Given the description of an element on the screen output the (x, y) to click on. 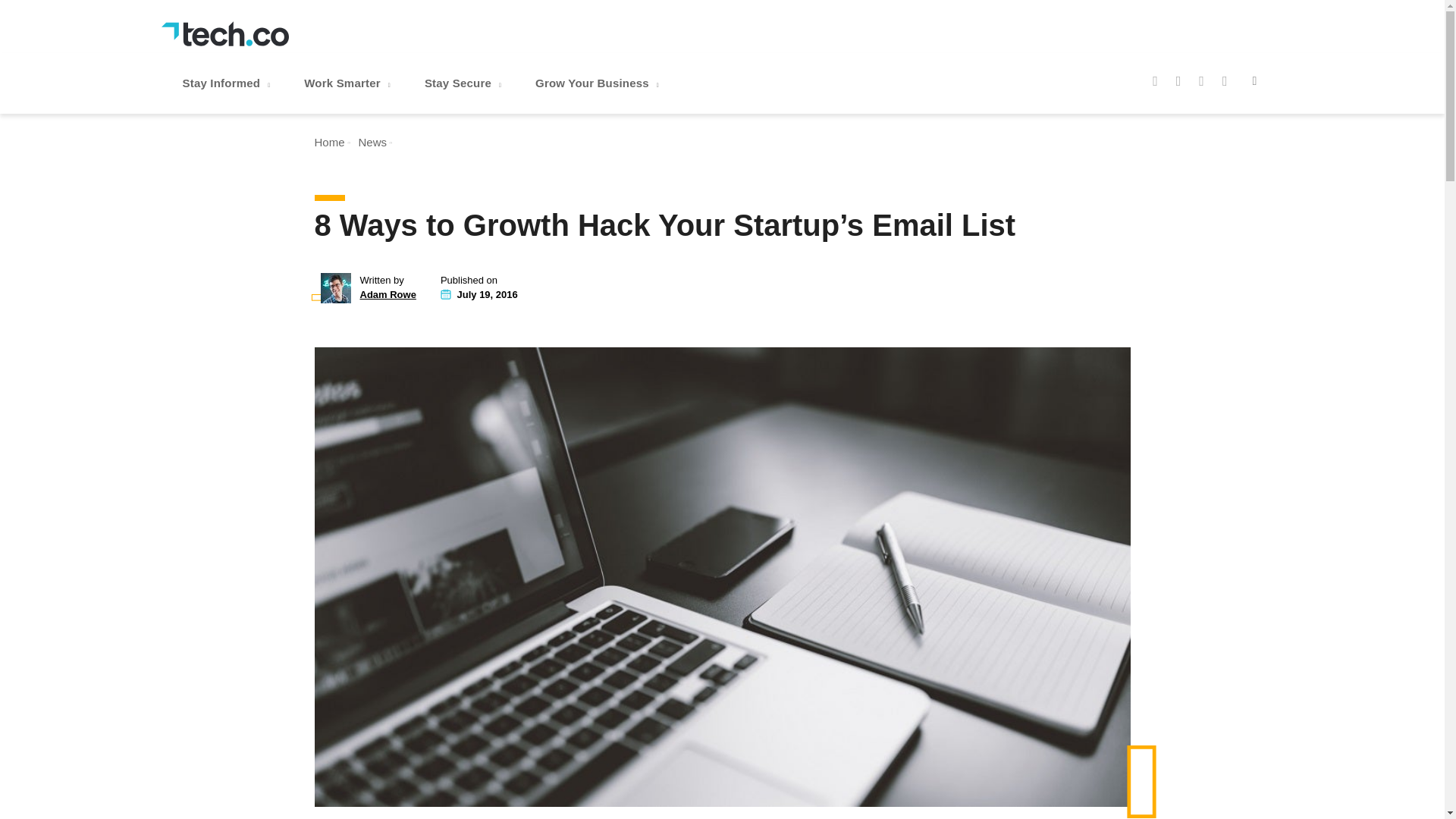
Work Smarter (348, 83)
Grow Your Business (598, 83)
Stay Secure (464, 83)
Stay Informed (227, 83)
